Given the description of an element on the screen output the (x, y) to click on. 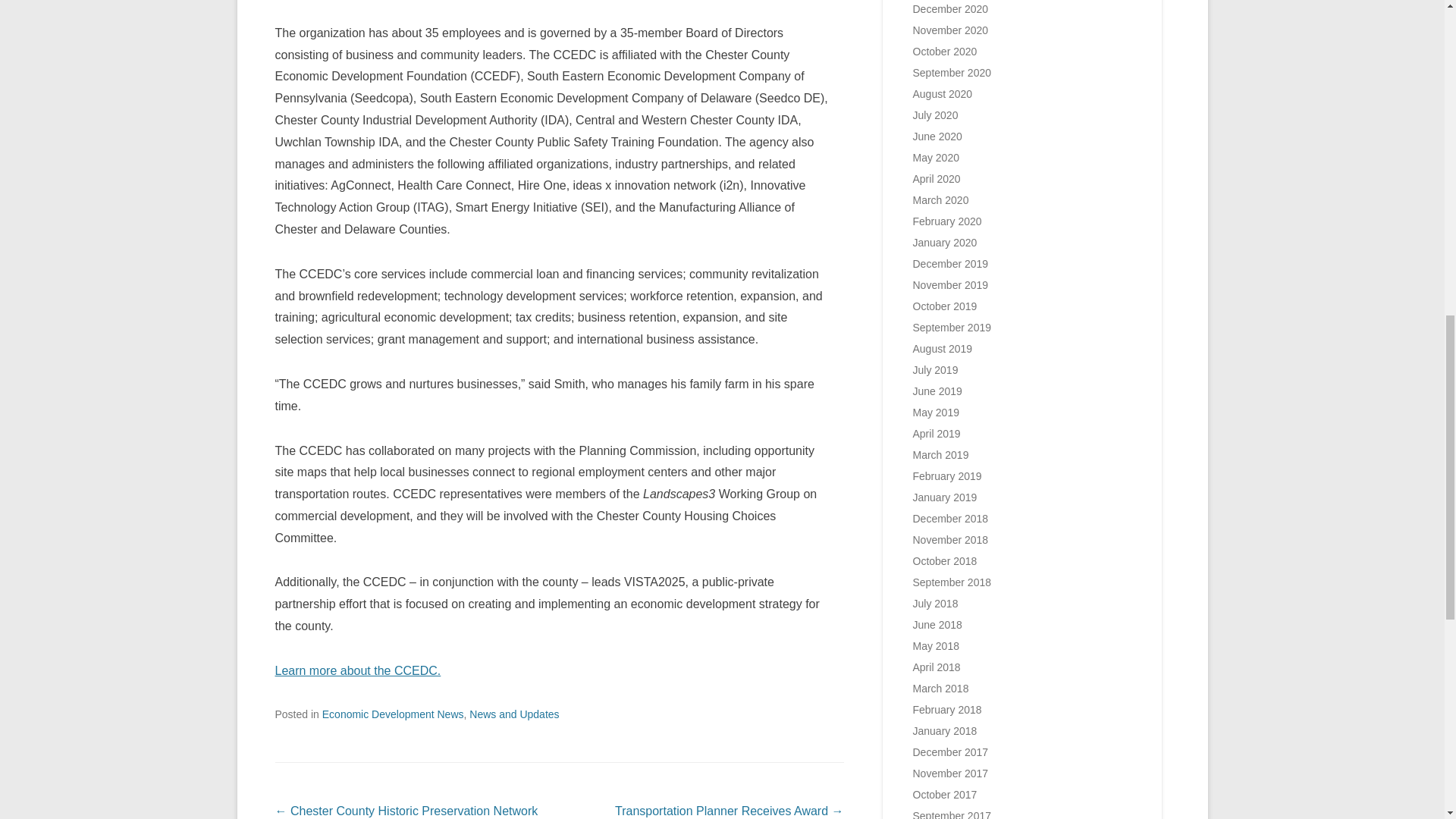
News and Updates (513, 714)
October 2020 (944, 51)
Economic Development News (392, 714)
November 2020 (950, 30)
December 2020 (950, 9)
Learn more about the CCEDC. (358, 670)
